Given the description of an element on the screen output the (x, y) to click on. 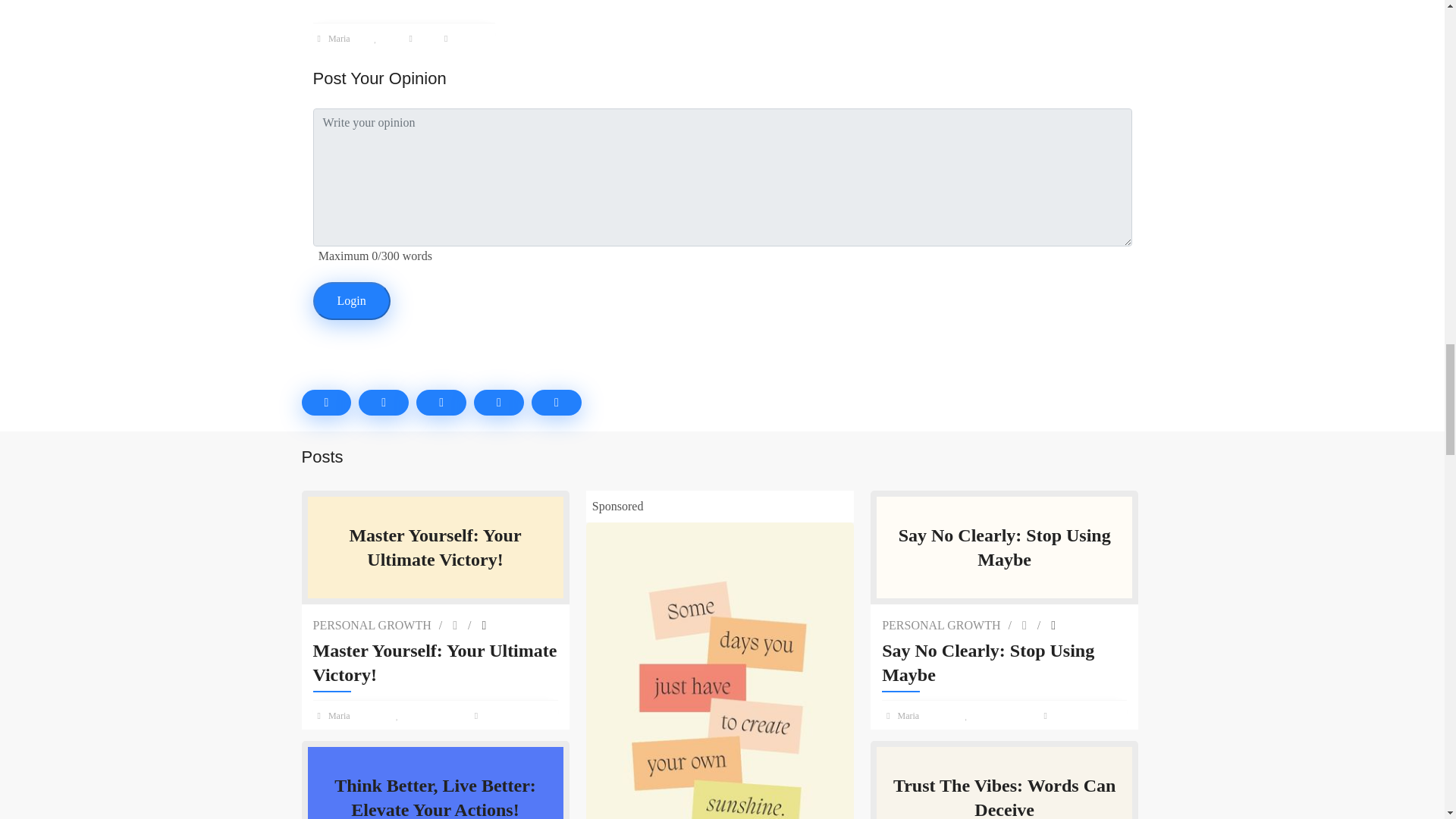
My Services (499, 402)
Comments (555, 402)
Topics (440, 402)
Please Login (379, 38)
Comments (479, 715)
Login (351, 300)
My Opinions (383, 402)
User Profile (333, 38)
Maria (333, 38)
Login (351, 300)
